Given the description of an element on the screen output the (x, y) to click on. 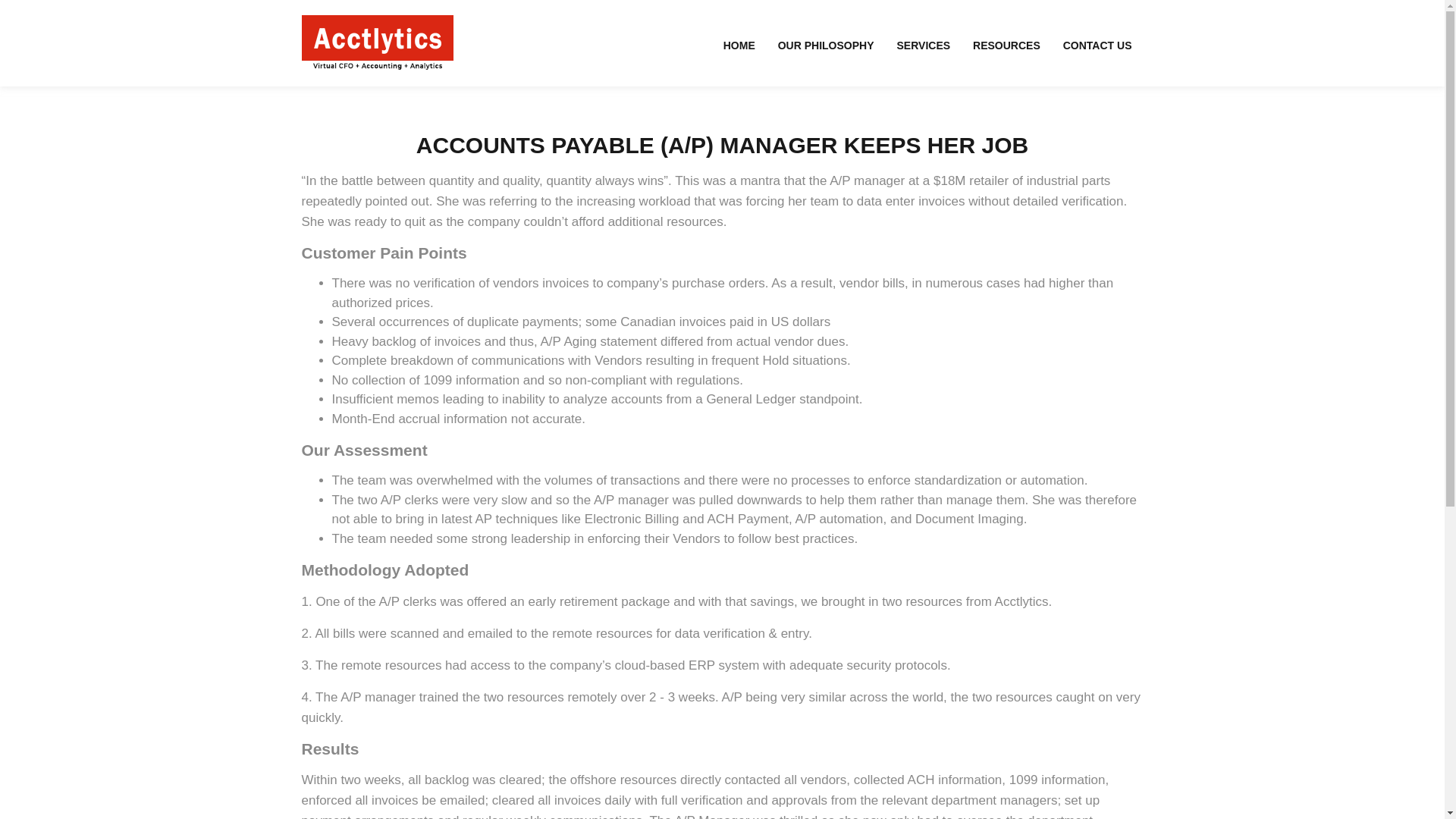
OUR PHILOSOPHY (826, 45)
RESOURCES (1005, 45)
CONTACT US (1096, 45)
SERVICES (923, 45)
HOME (739, 45)
